Given the description of an element on the screen output the (x, y) to click on. 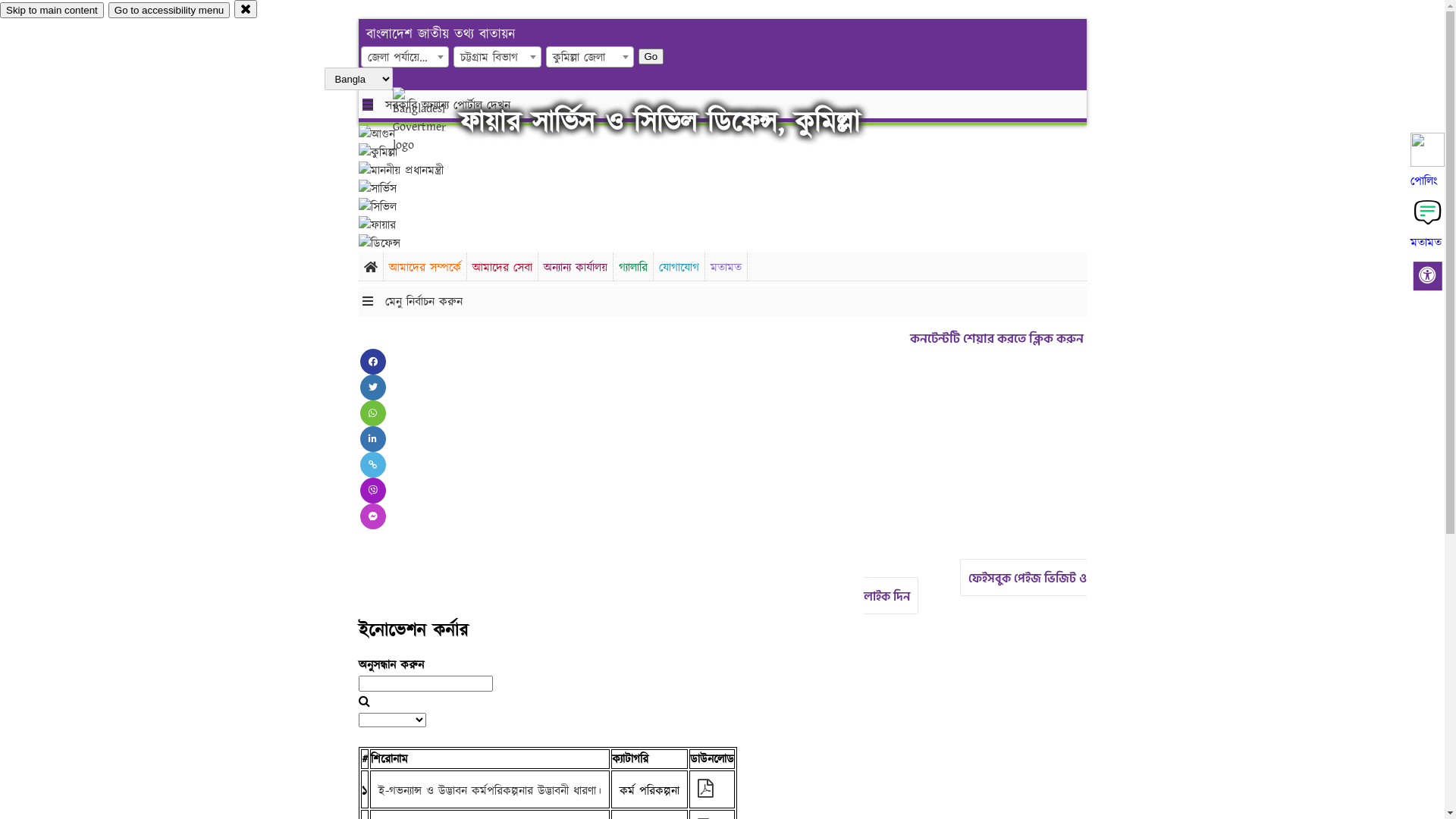
Go Element type: text (651, 56)
Go to accessibility menu Element type: text (168, 10)
Skip to main content Element type: text (51, 10)

                
             Element type: hover (431, 120)
close Element type: hover (245, 9)
